Given the description of an element on the screen output the (x, y) to click on. 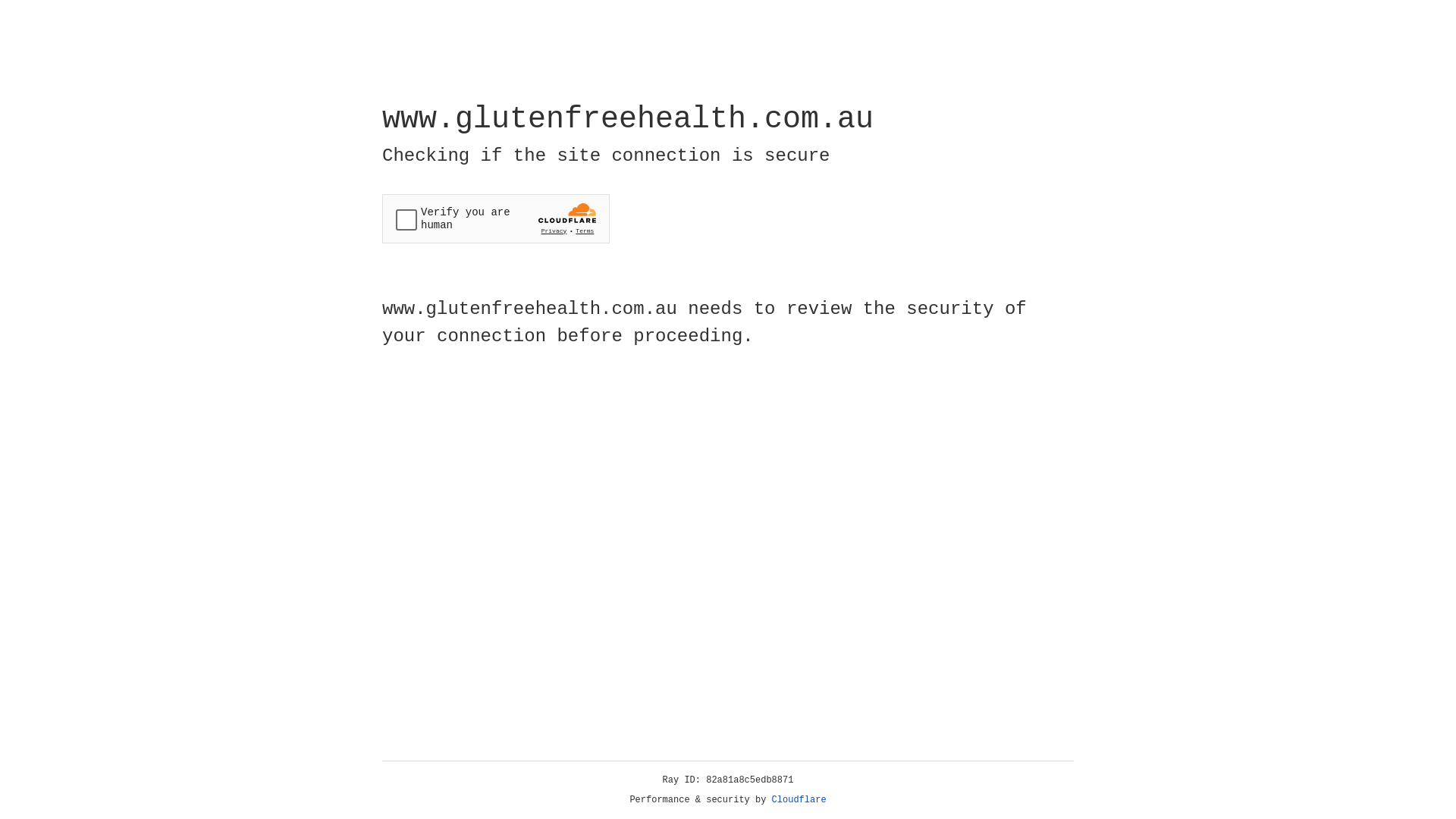
Cloudflare Element type: text (798, 799)
Widget containing a Cloudflare security challenge Element type: hover (495, 218)
